Given the description of an element on the screen output the (x, y) to click on. 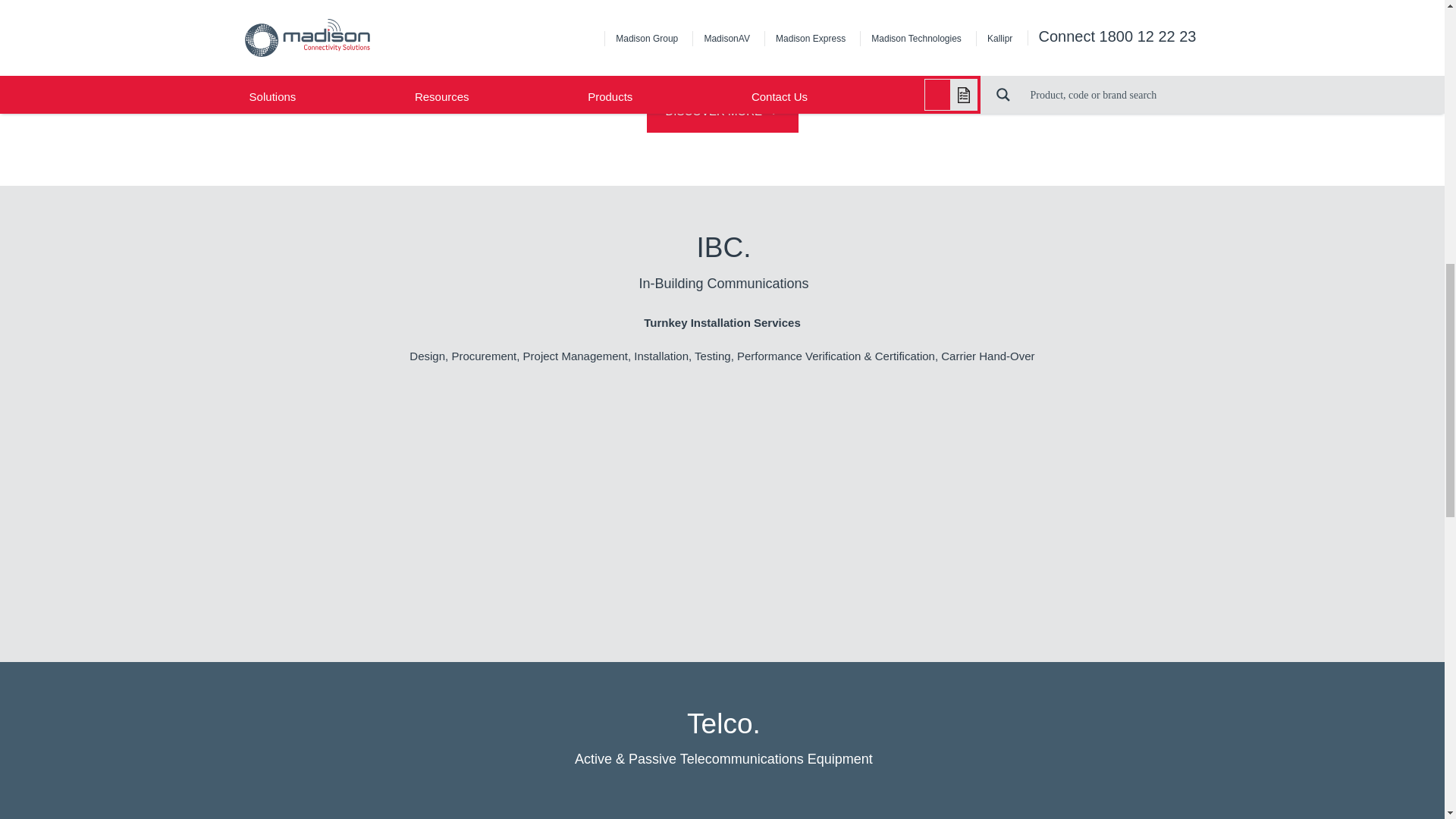
projects we have completed (754, 36)
DISCOVER MORE (721, 109)
